Given the description of an element on the screen output the (x, y) to click on. 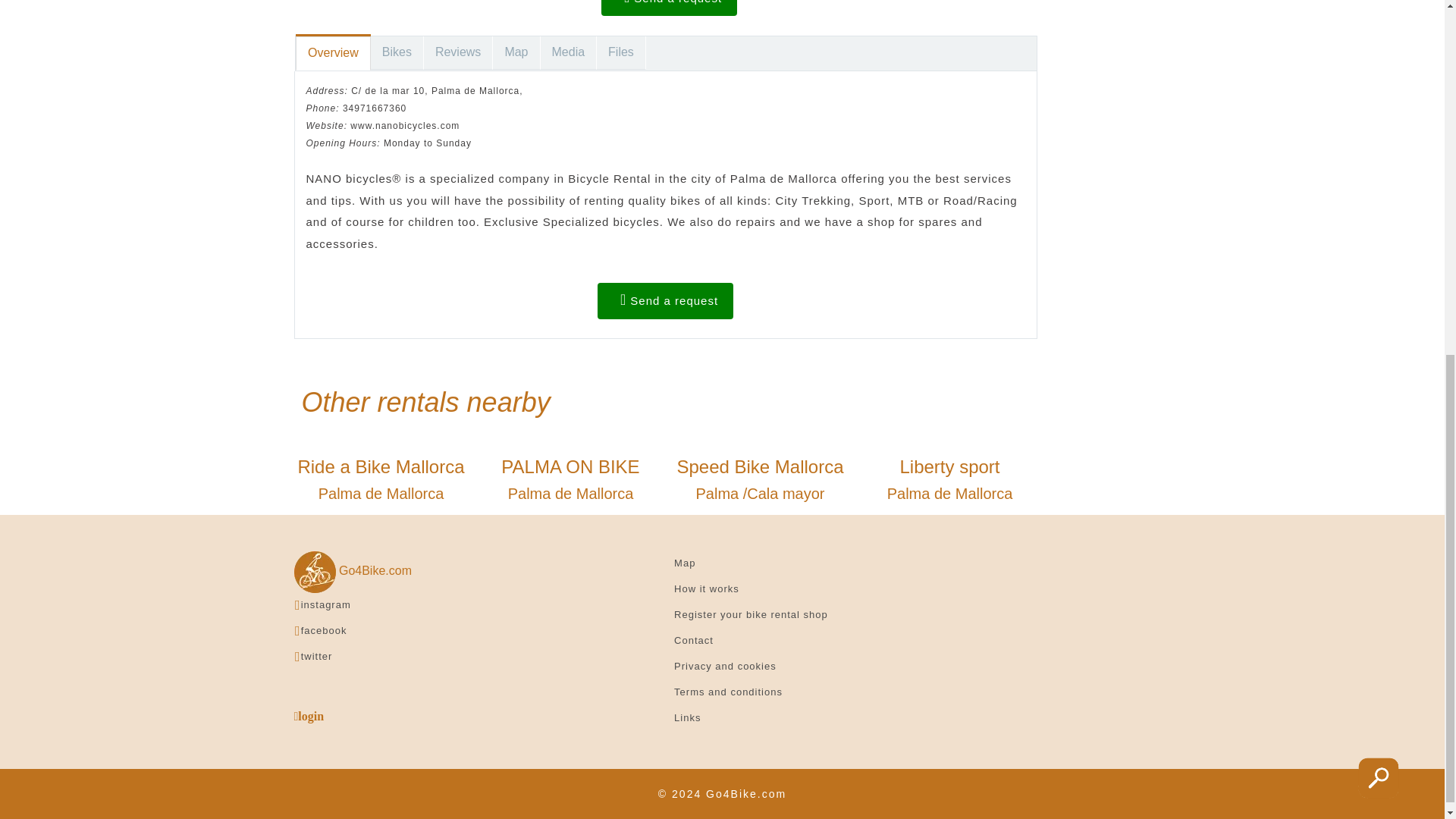
instagram (325, 604)
 Send a request (664, 300)
Files (621, 52)
login (309, 716)
Bikes (397, 52)
 Send a request (668, 8)
Overview (333, 53)
facebook (324, 630)
Reviews (458, 52)
Map (381, 479)
 Go4Bike.com (516, 52)
Media (353, 570)
Go4Bike (949, 479)
